Given the description of an element on the screen output the (x, y) to click on. 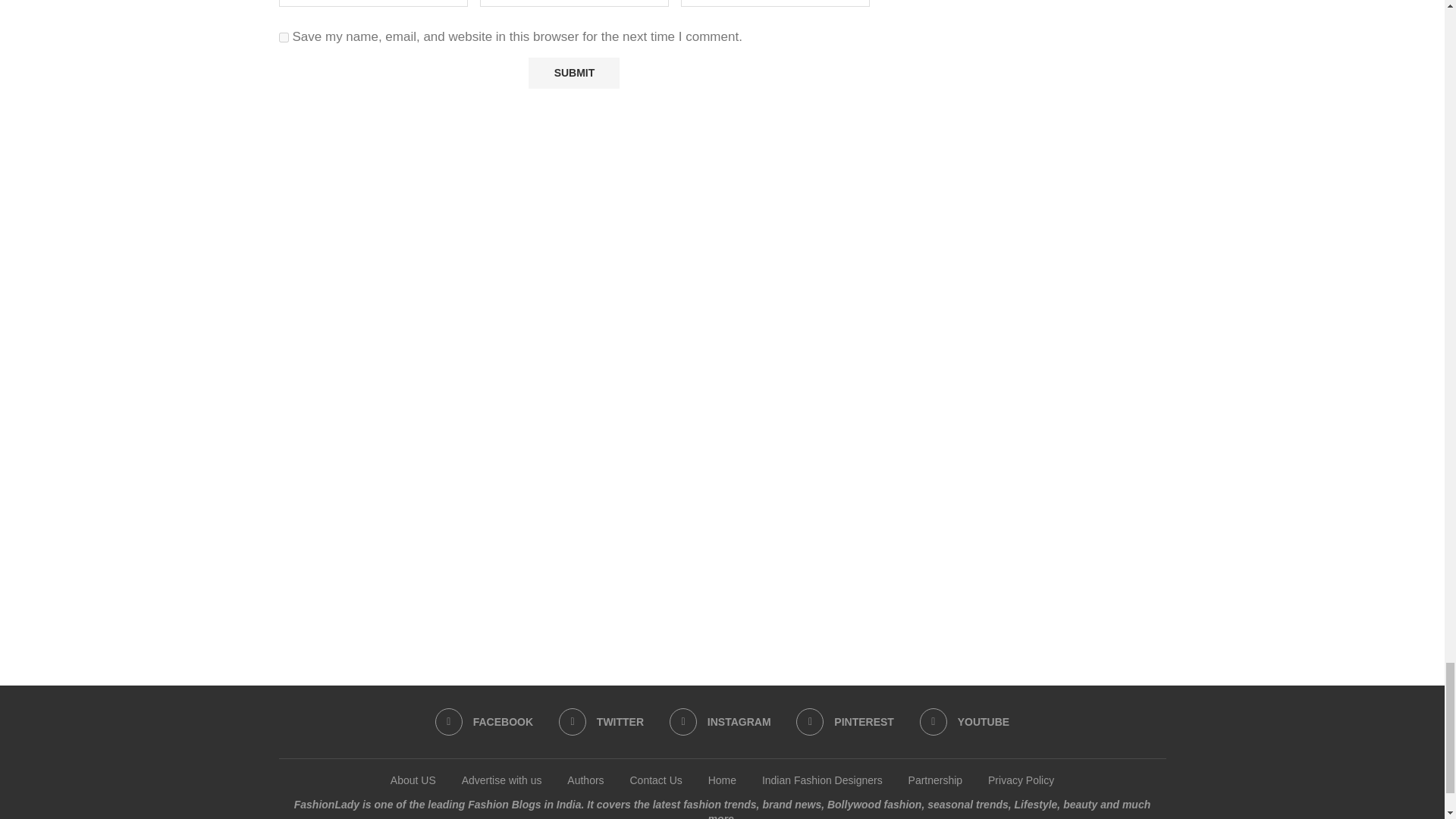
Submit (574, 72)
yes (283, 37)
